Given the description of an element on the screen output the (x, y) to click on. 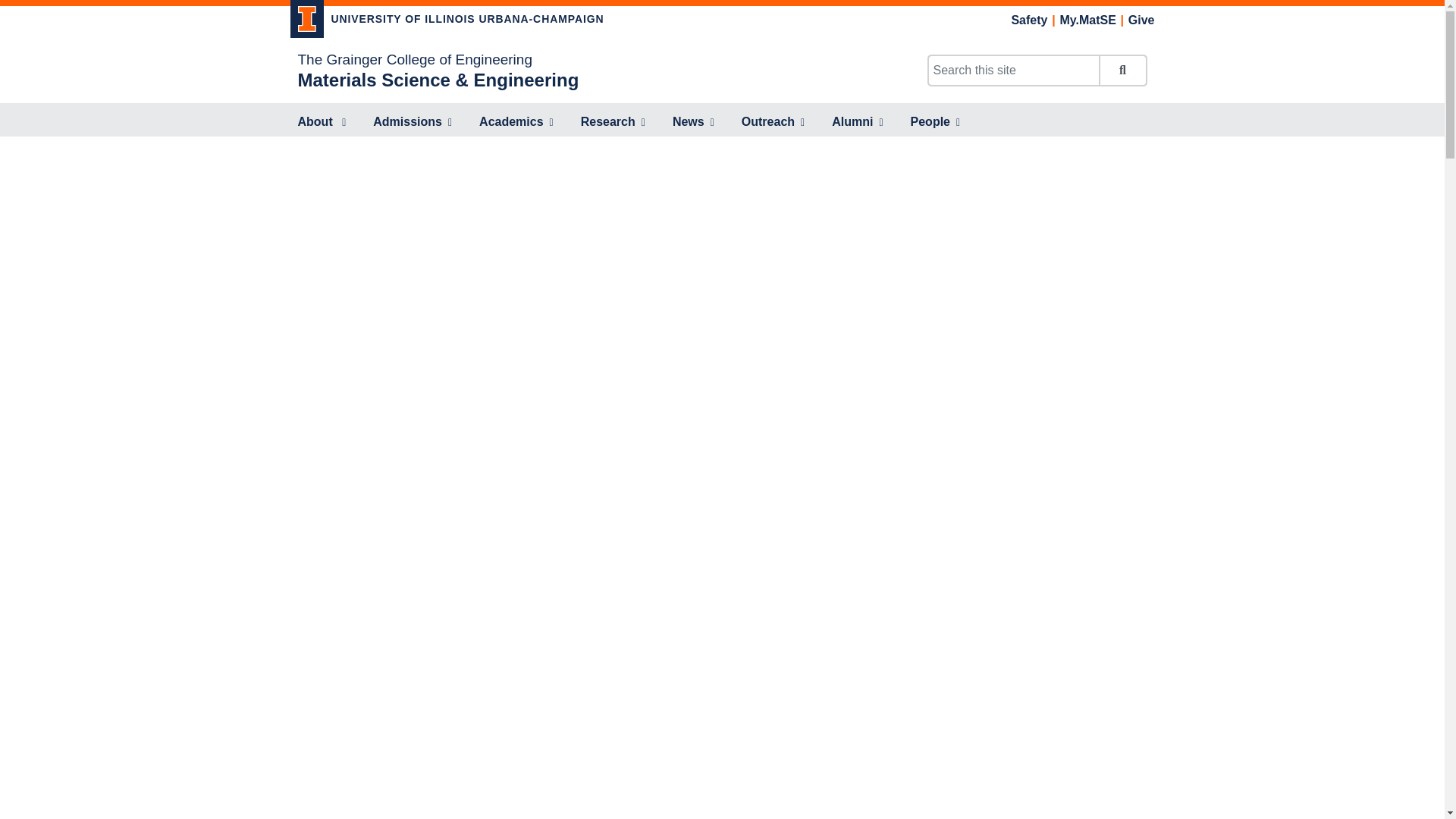
The Grainger College of Engineering (414, 59)
Safety (1028, 19)
UNIVERSITY OF ILLINOIS URBANA-CHAMPAIGN (446, 21)
Give (1141, 19)
My.MatSE (1087, 19)
About (321, 122)
Admissions (412, 122)
Academics (515, 122)
Search (1121, 70)
